Given the description of an element on the screen output the (x, y) to click on. 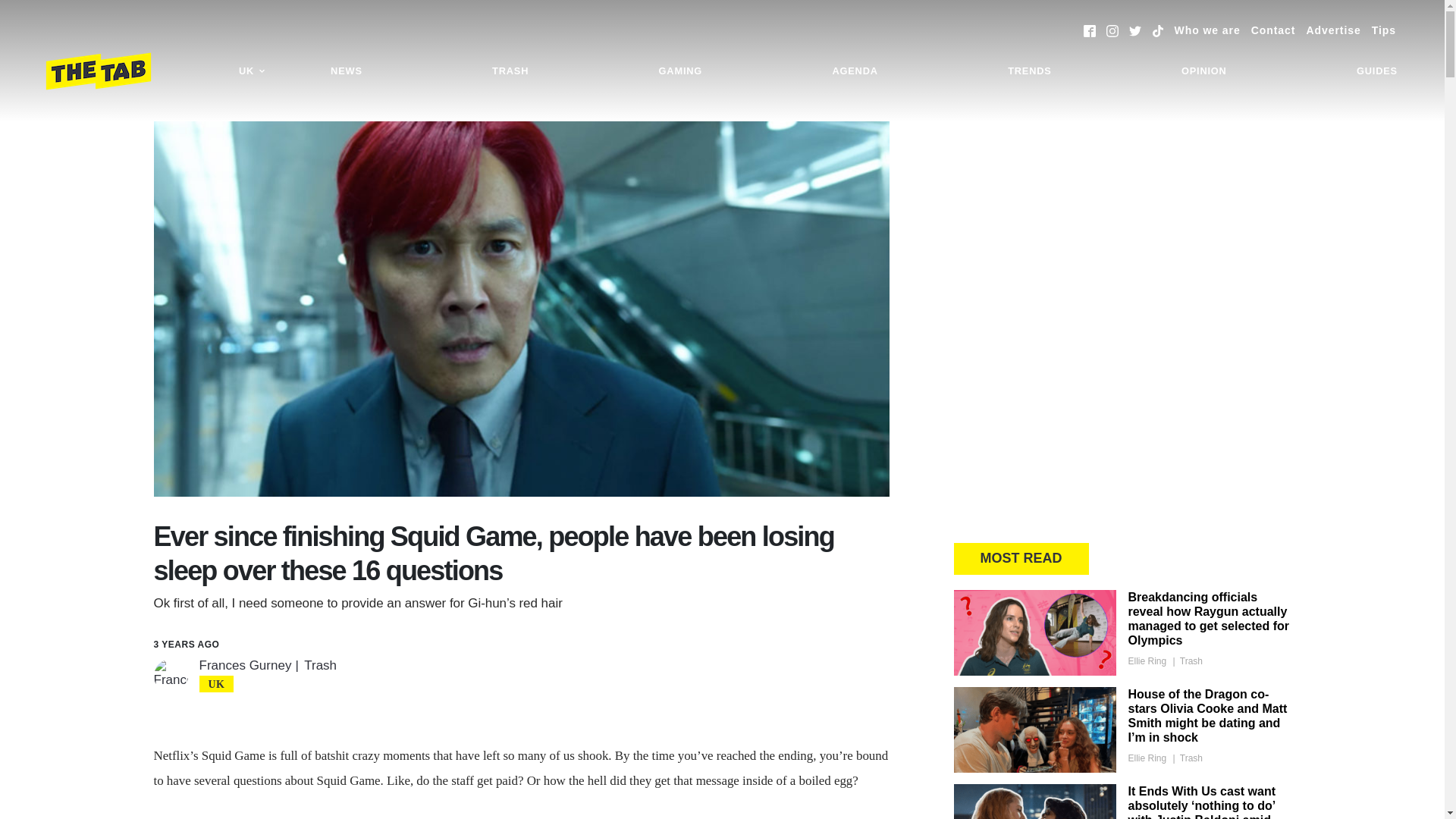
AGENDA (854, 71)
GAMING (680, 71)
TRENDS (1028, 71)
GUIDES (1377, 71)
TRASH (510, 71)
Who we are (1207, 29)
Contact (1272, 29)
UK (252, 71)
Tips (1383, 29)
NEWS (346, 71)
